Given the description of an element on the screen output the (x, y) to click on. 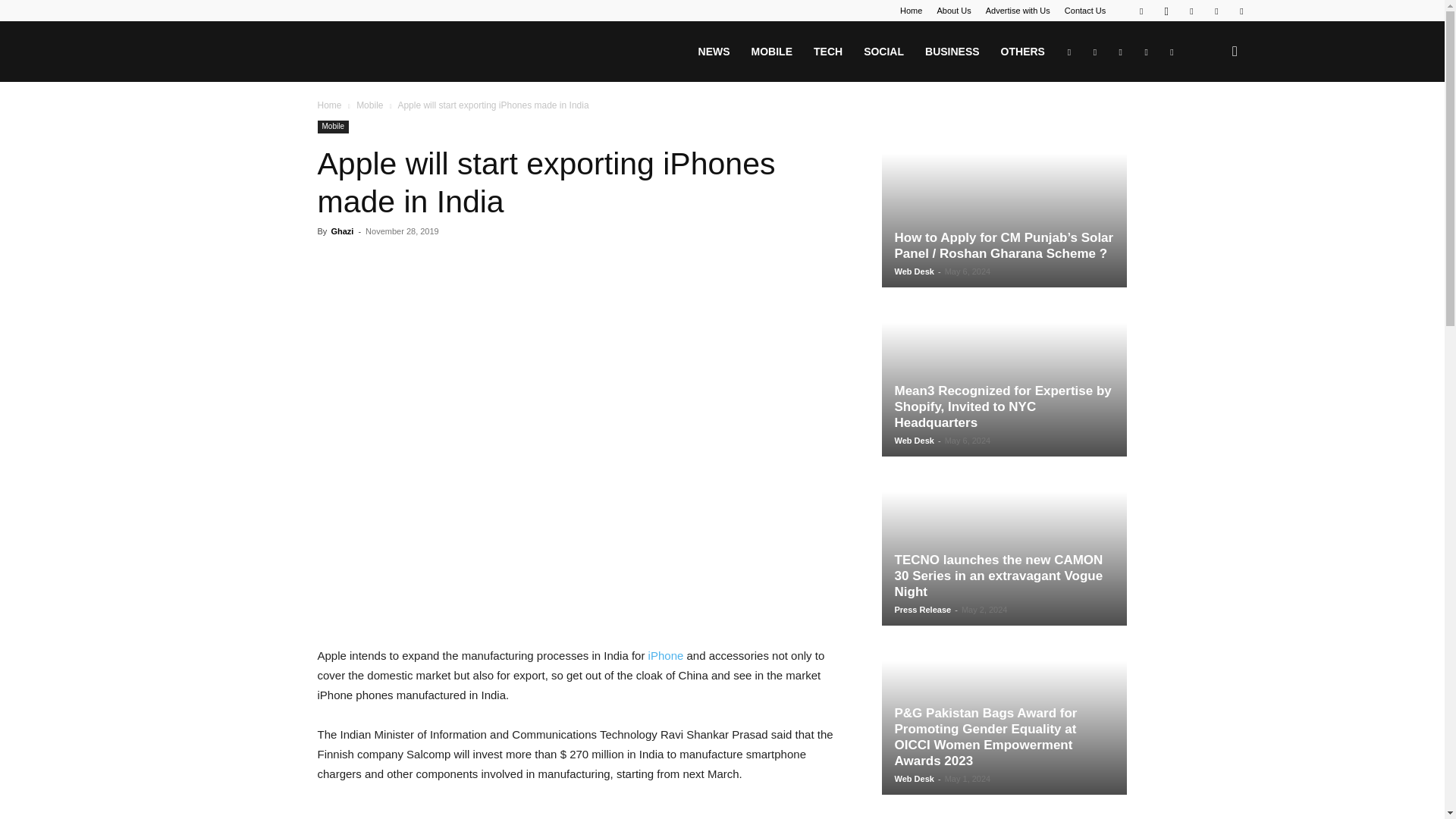
Advertise with Us (1017, 10)
Youtube (1241, 10)
Pinterest (1190, 10)
Home (910, 10)
Contact Us (1084, 10)
Facebook (1141, 10)
Instagram (1165, 10)
About Us (953, 10)
Twitter (1216, 10)
